Given the description of an element on the screen output the (x, y) to click on. 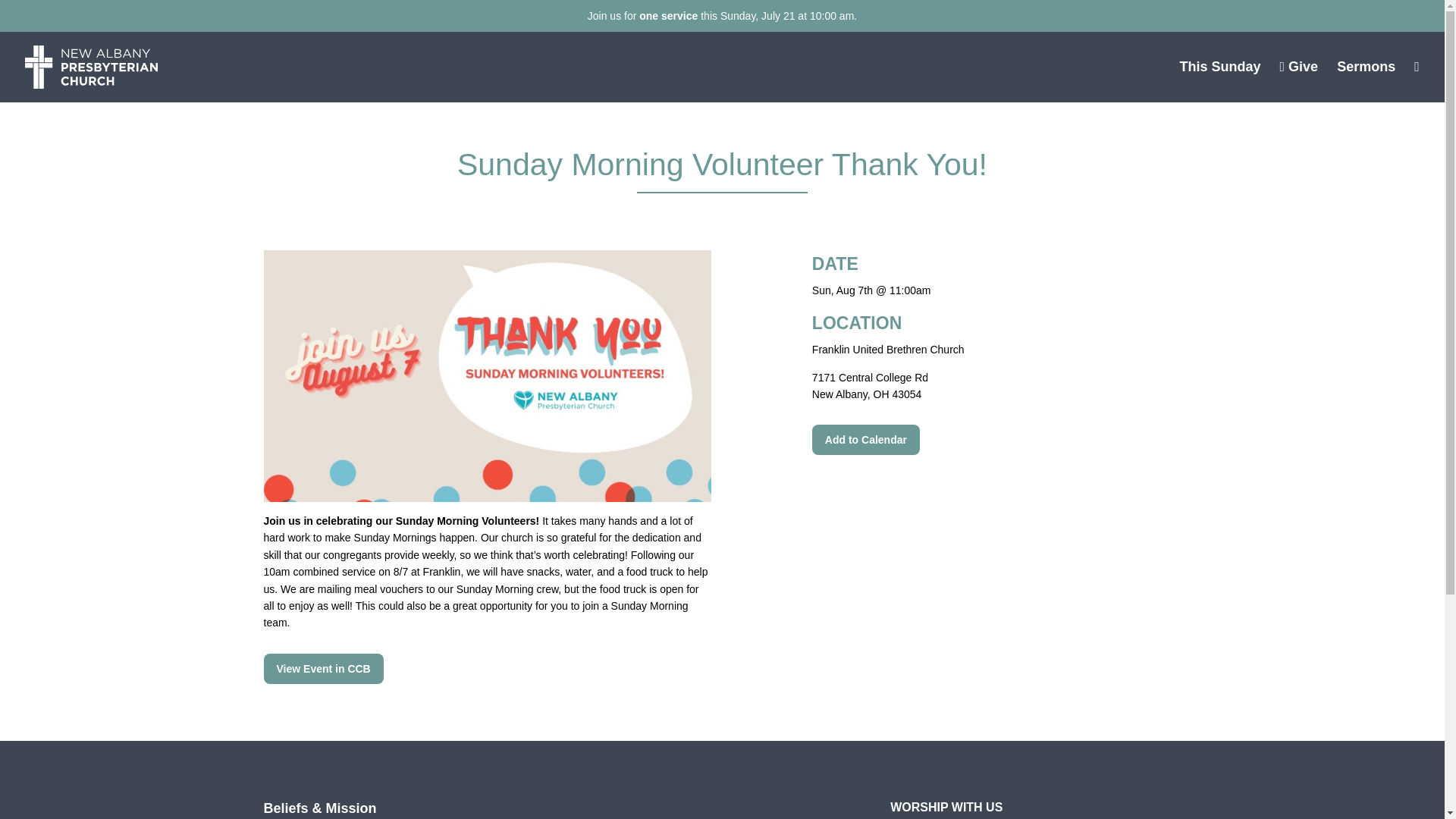
This Sunday (1219, 66)
View Event in CCB (323, 668)
Add to Calendar (866, 440)
Sermons (1365, 66)
Give (1299, 66)
NAPC Logo (90, 66)
